Given the description of an element on the screen output the (x, y) to click on. 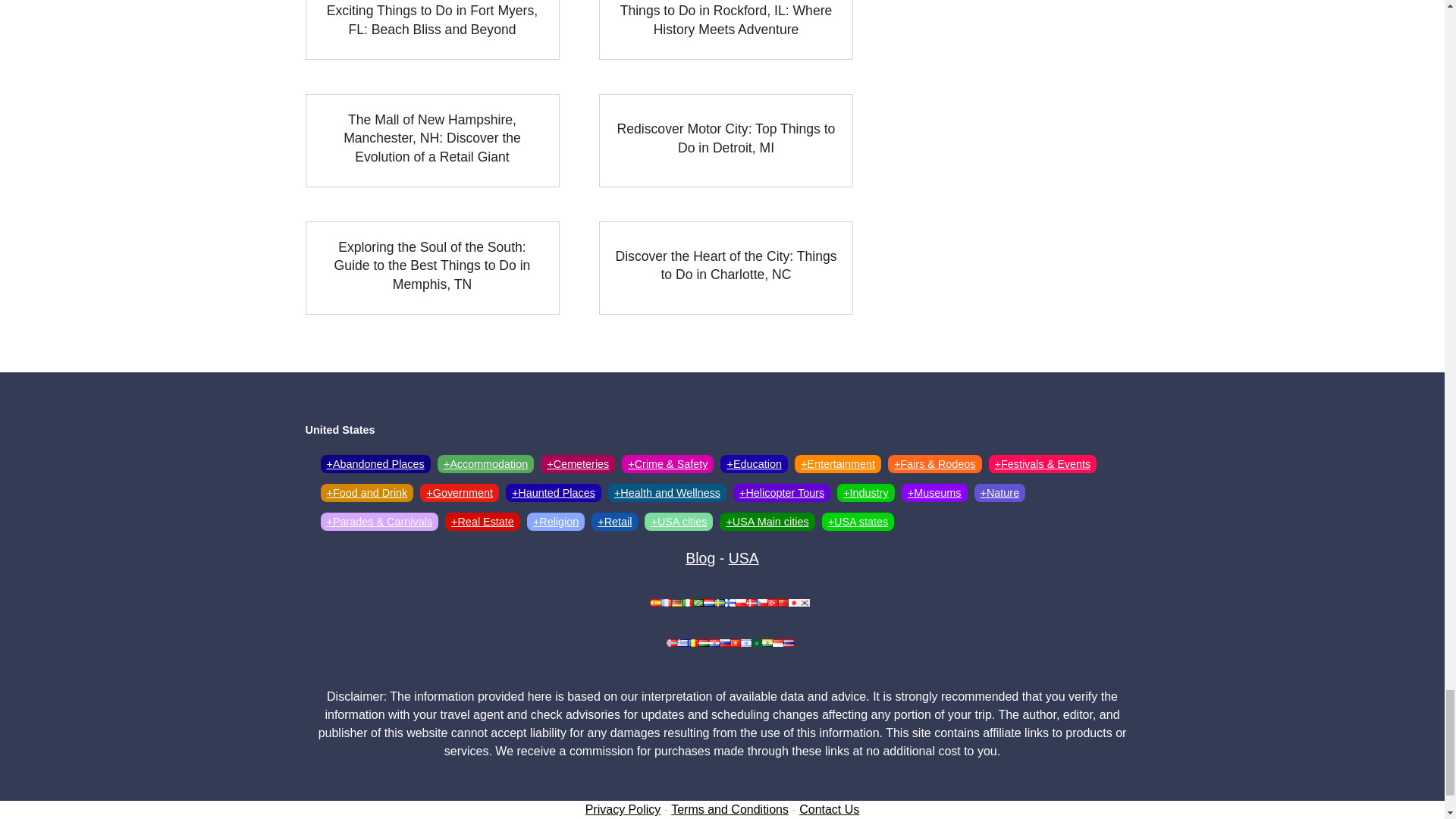
Post Comment (354, 747)
yes (309, 714)
